Given the description of an element on the screen output the (x, y) to click on. 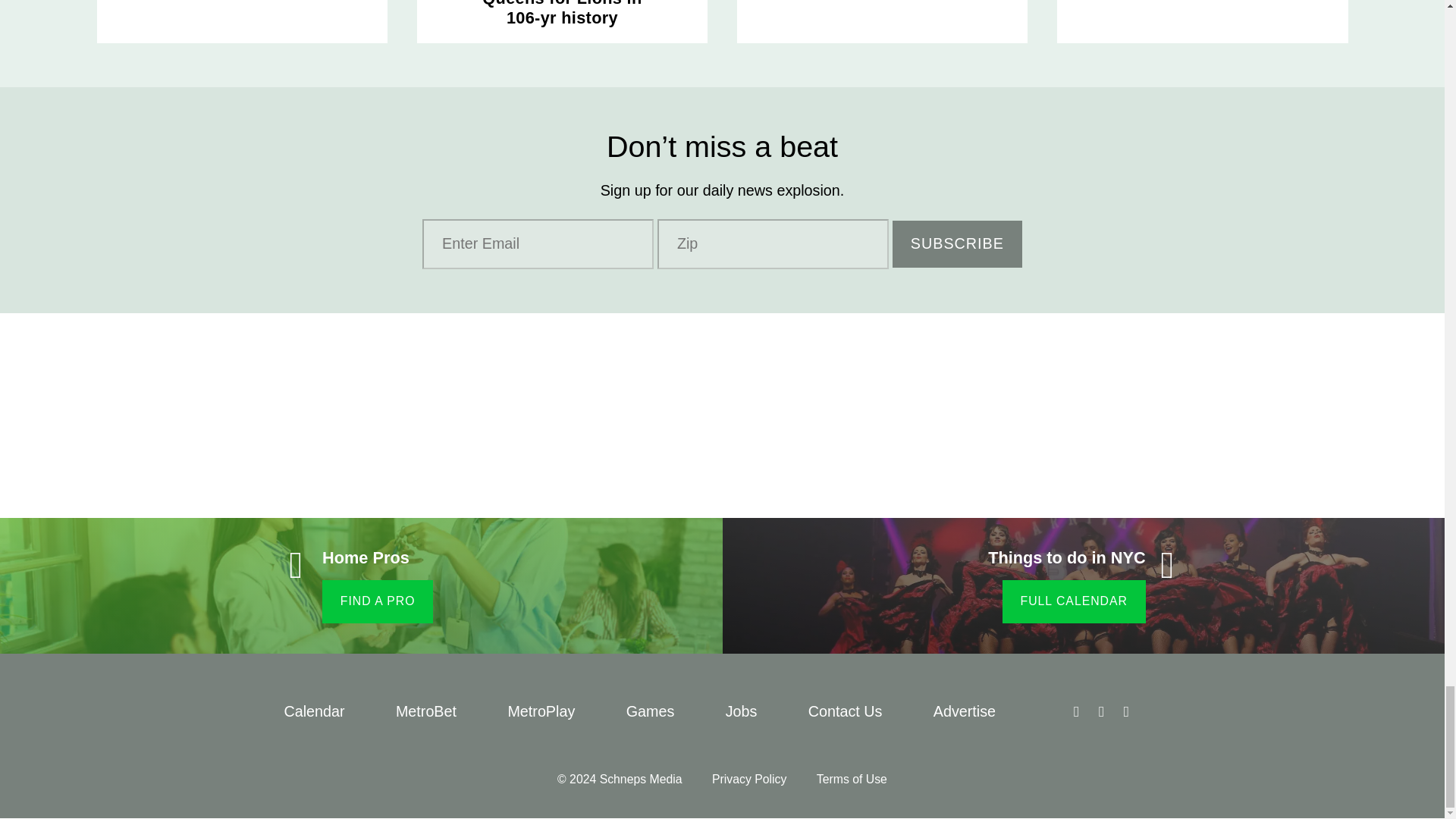
Subscribe (957, 244)
